Given the description of an element on the screen output the (x, y) to click on. 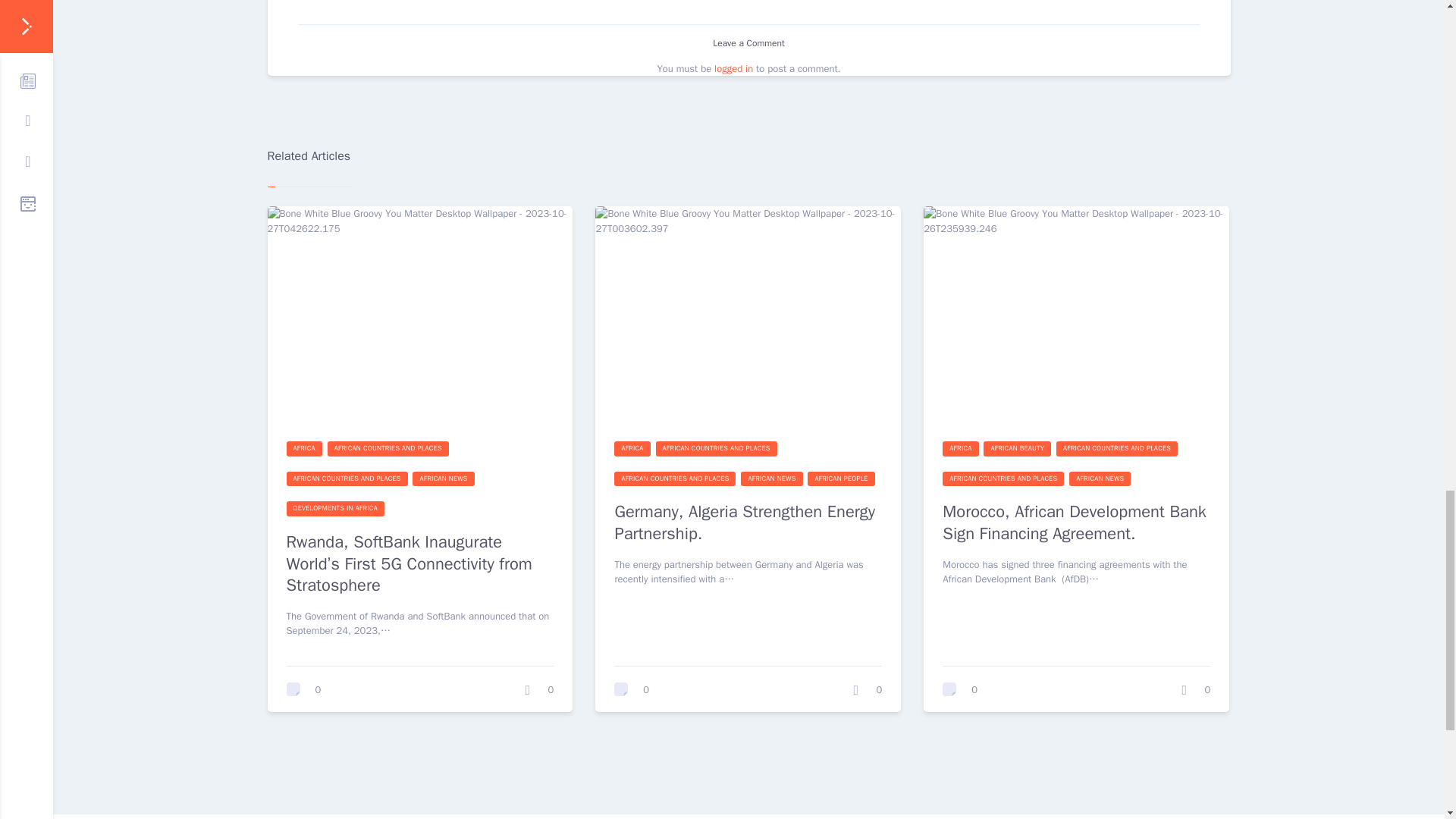
All posts from African News (771, 478)
All posts from African Countries and Places (716, 448)
All posts from African News (443, 478)
All posts from African Countries and Places (387, 448)
All posts from Africa (631, 448)
All posts from African People (841, 478)
All posts from Africa (960, 448)
All posts from Developments in Africa (335, 508)
All posts from African Countries and Places (674, 478)
All posts from African Countries and Places (346, 478)
